Given the description of an element on the screen output the (x, y) to click on. 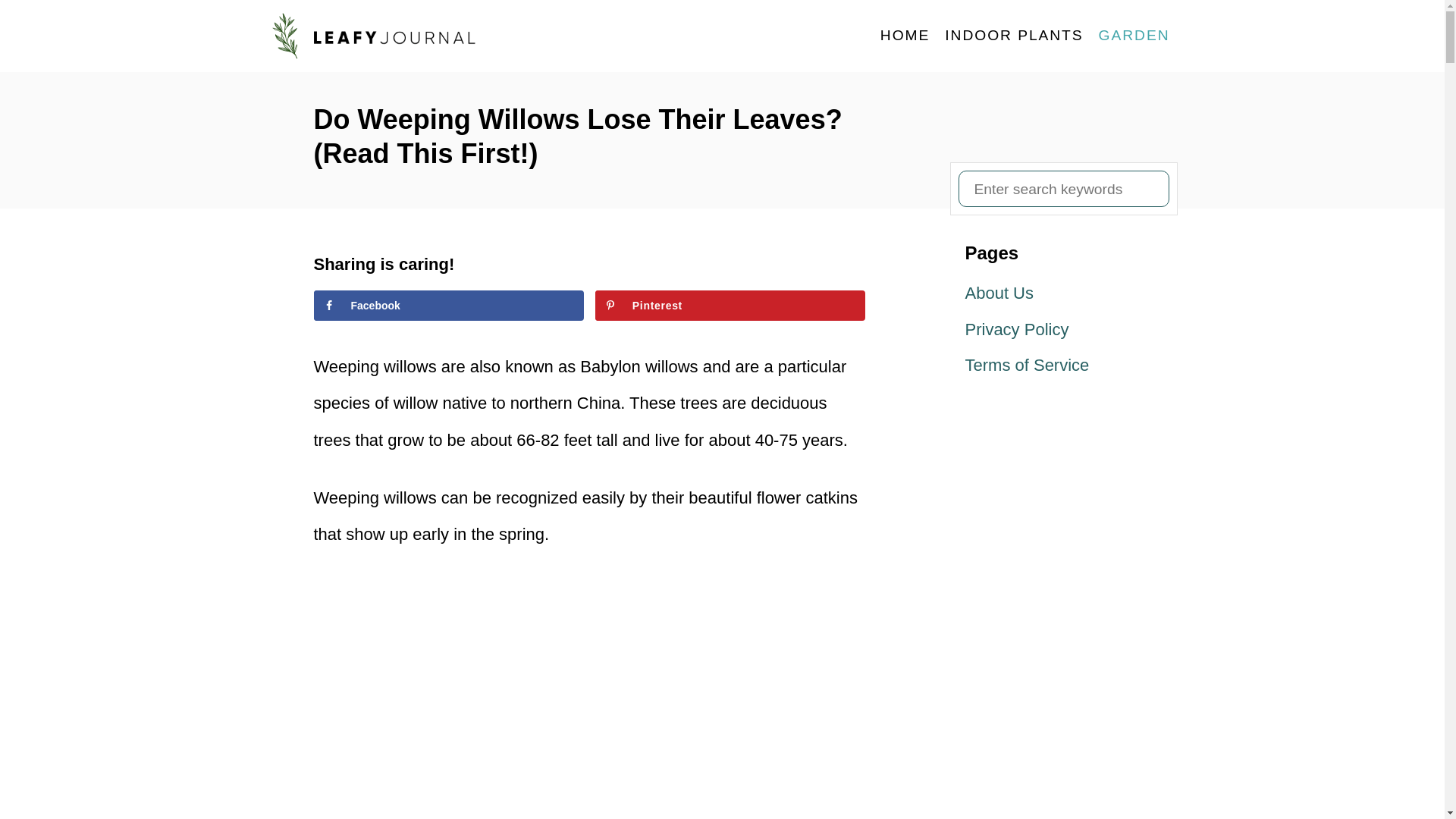
Save to Pinterest (730, 305)
Share on Facebook (449, 305)
LeafyJournal (403, 36)
HOME (904, 35)
Facebook (449, 305)
Pinterest (730, 305)
INDOOR PLANTS (1013, 35)
GARDEN (1133, 35)
